Given the description of an element on the screen output the (x, y) to click on. 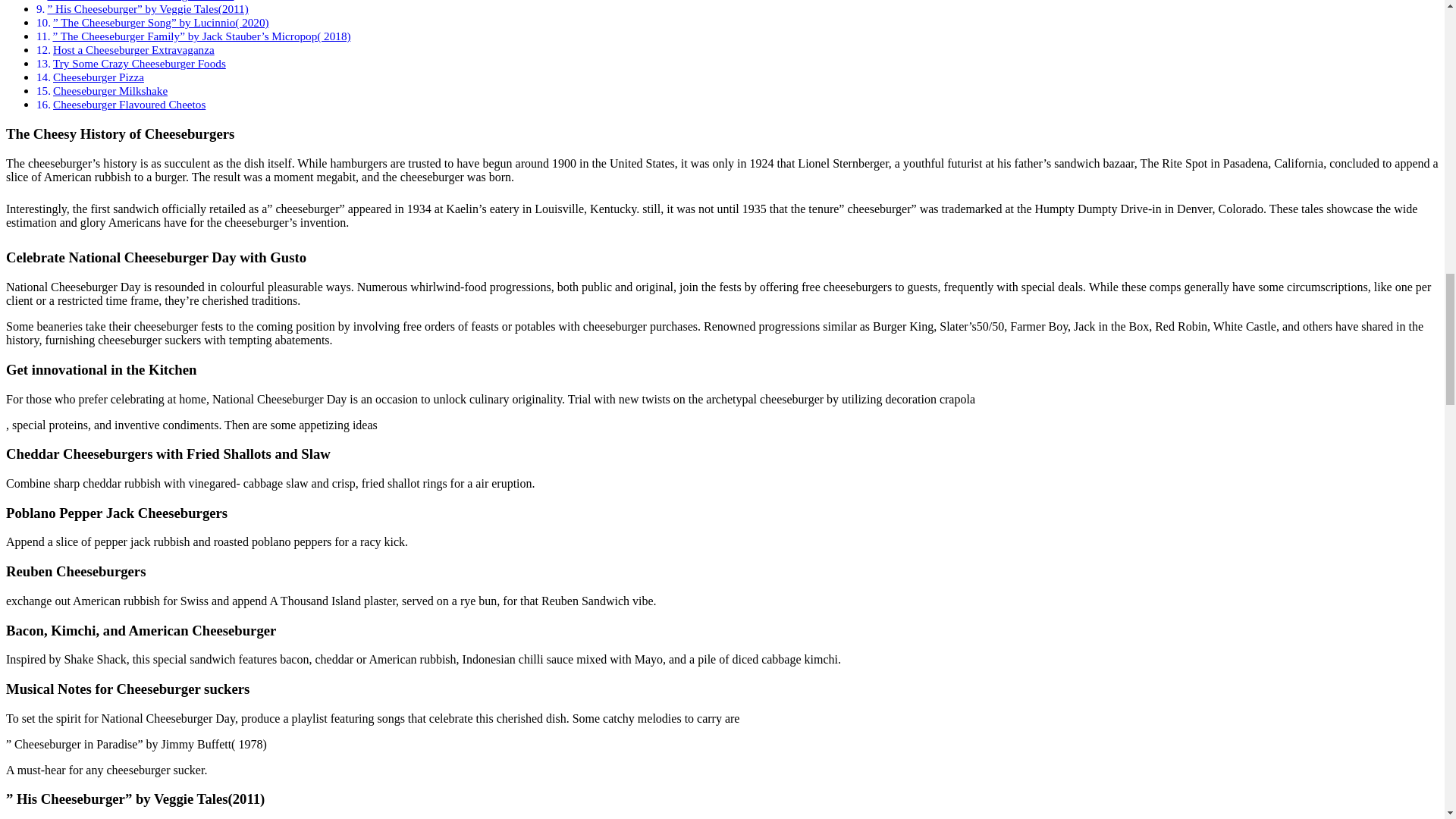
Cheeseburger Pizza (98, 76)
Host a Cheeseburger Extravaganza (133, 49)
Cheeseburger Milkshake (109, 90)
Try Some Crazy Cheeseburger Foods (138, 62)
